Given the description of an element on the screen output the (x, y) to click on. 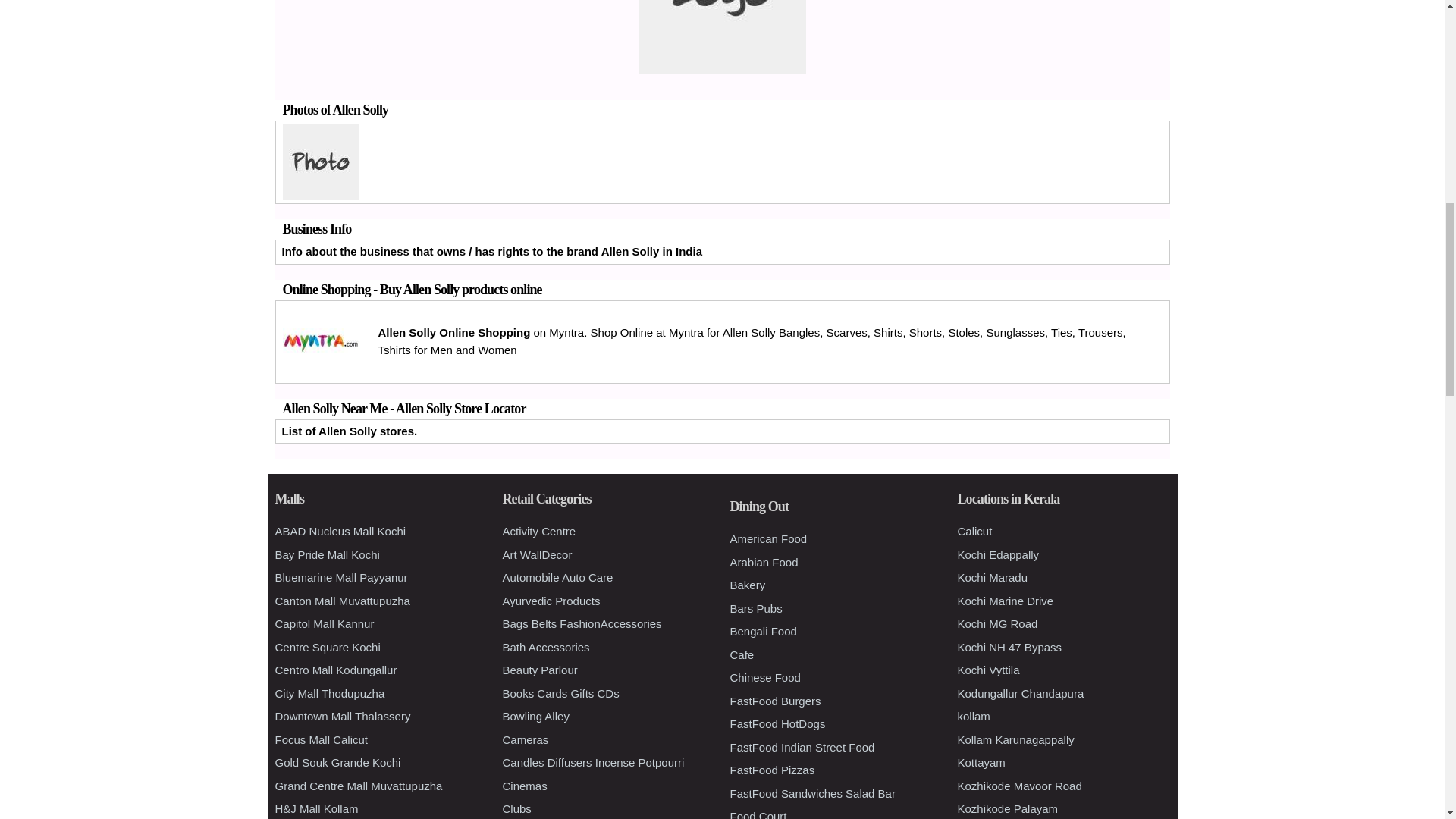
Bluemarine Mall Payyanur (341, 576)
Centre Square Kochi (327, 645)
Canton Mall Muvattupuzha (342, 600)
ABAD Nucleus Mall Kochi (340, 530)
Bay Pride Mall Kochi (326, 553)
Capitol Mall Kannur (324, 623)
